Given the description of an element on the screen output the (x, y) to click on. 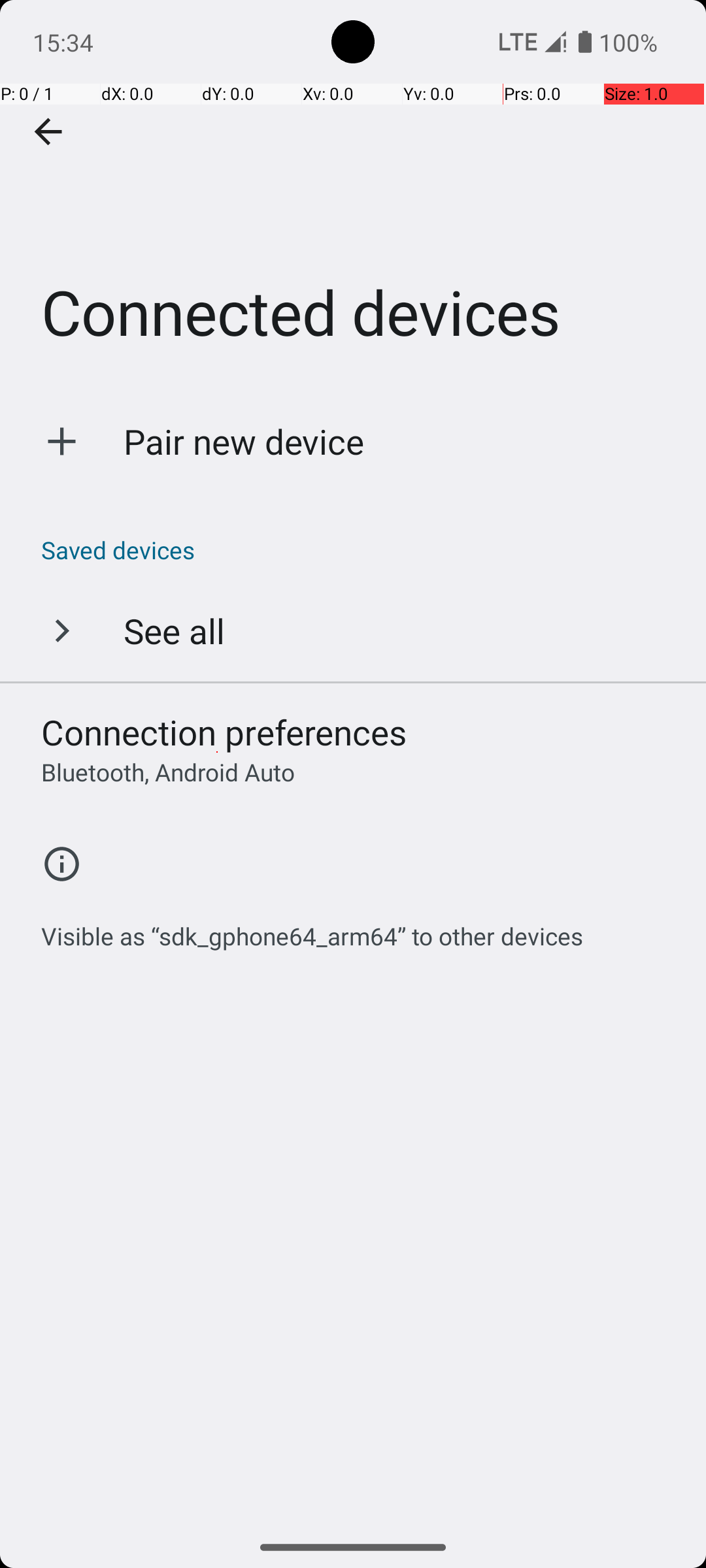
Pair new device Element type: android.widget.TextView (243, 441)
Saved devices Element type: android.widget.TextView (359, 549)
See all Element type: android.widget.TextView (173, 630)
Connection preferences Element type: android.widget.TextView (224, 731)
Bluetooth, Android Auto Element type: android.widget.TextView (167, 771)
Visible as “sdk_gphone64_arm64” to other devices Element type: android.widget.TextView (312, 928)
